Given the description of an element on the screen output the (x, y) to click on. 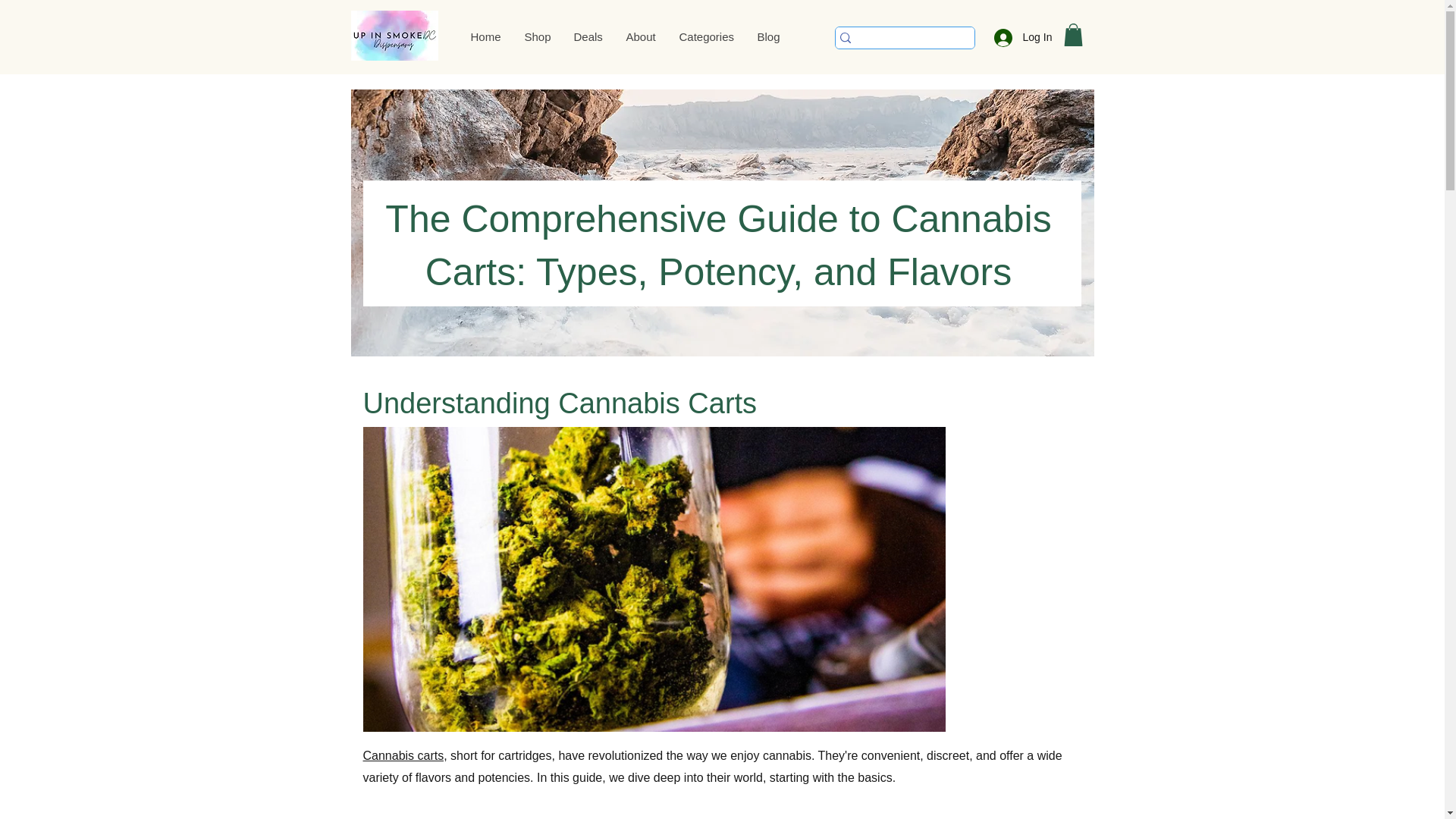
Log In (1018, 37)
About (640, 36)
Deals (586, 36)
Home (486, 36)
Cannabis carts, (404, 755)
PAQ logo.png (394, 35)
Blog (767, 36)
Shop (537, 36)
